Given the description of an element on the screen output the (x, y) to click on. 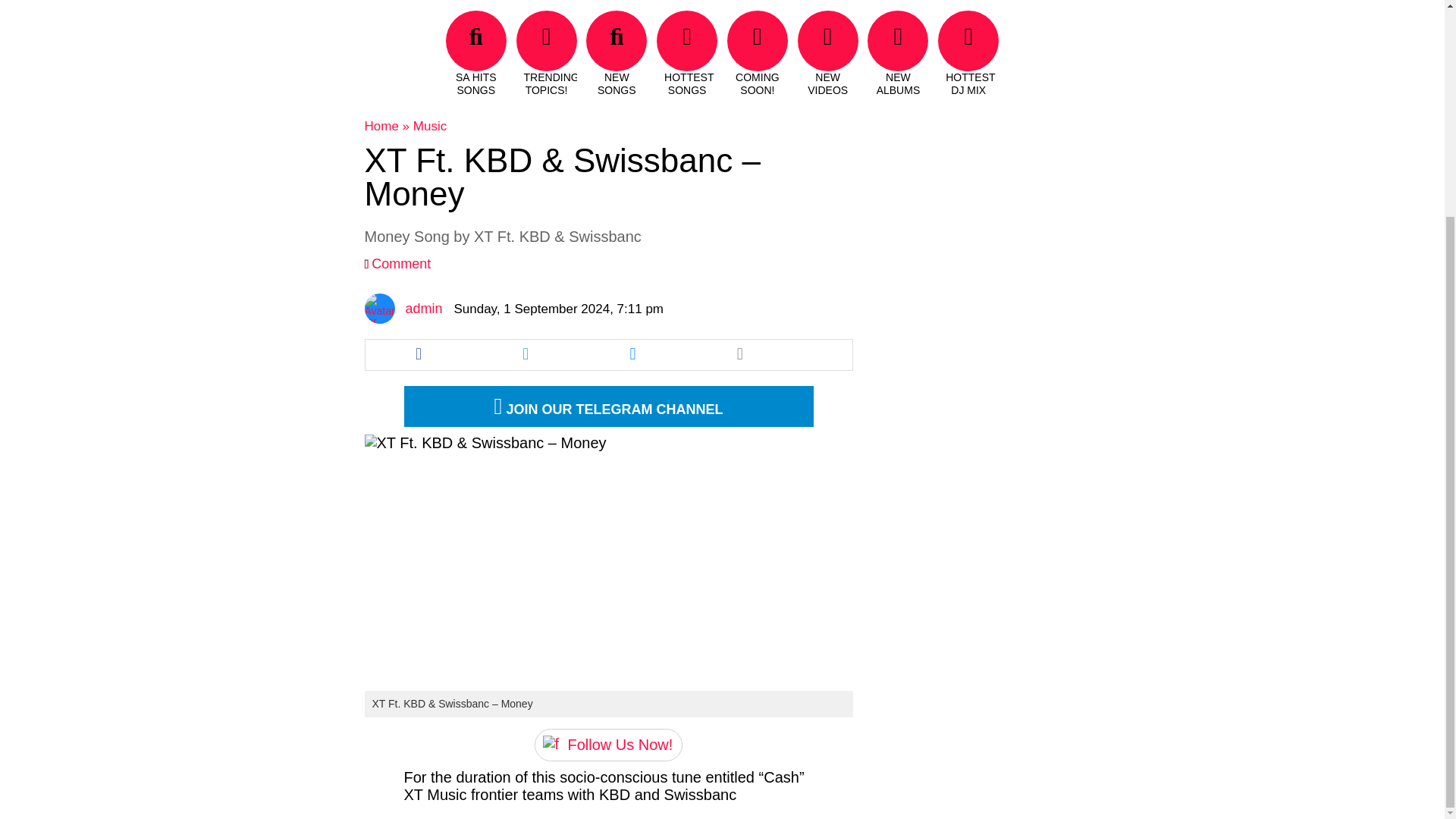
Music (429, 125)
Home (380, 125)
Gravatar for admin (379, 308)
Posts by admin (423, 308)
